Given the description of an element on the screen output the (x, y) to click on. 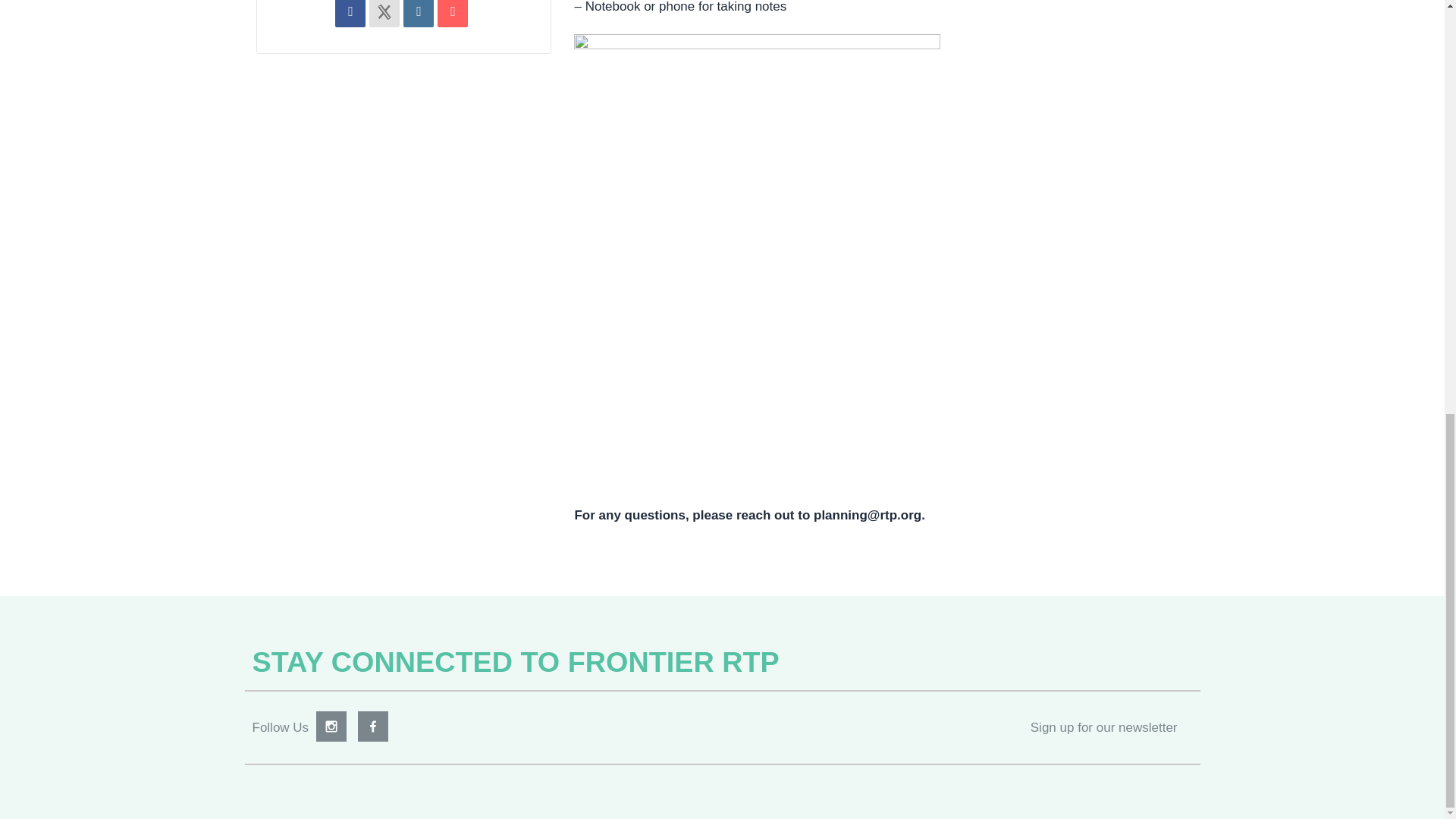
Linkedin (418, 13)
Share on Facebook (349, 13)
Facebook (373, 726)
Instagram (330, 726)
X Social Network (383, 13)
Email (452, 13)
